Given the description of an element on the screen output the (x, y) to click on. 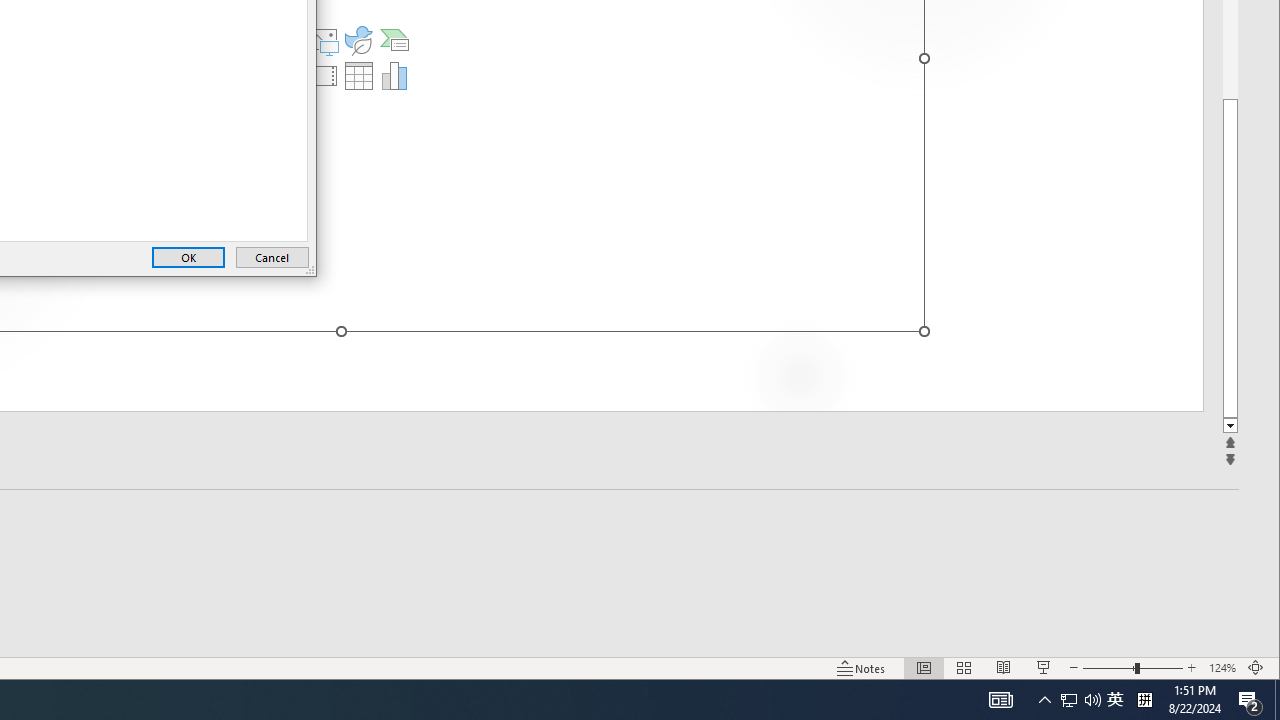
Insert Chart (394, 75)
